Given the description of an element on the screen output the (x, y) to click on. 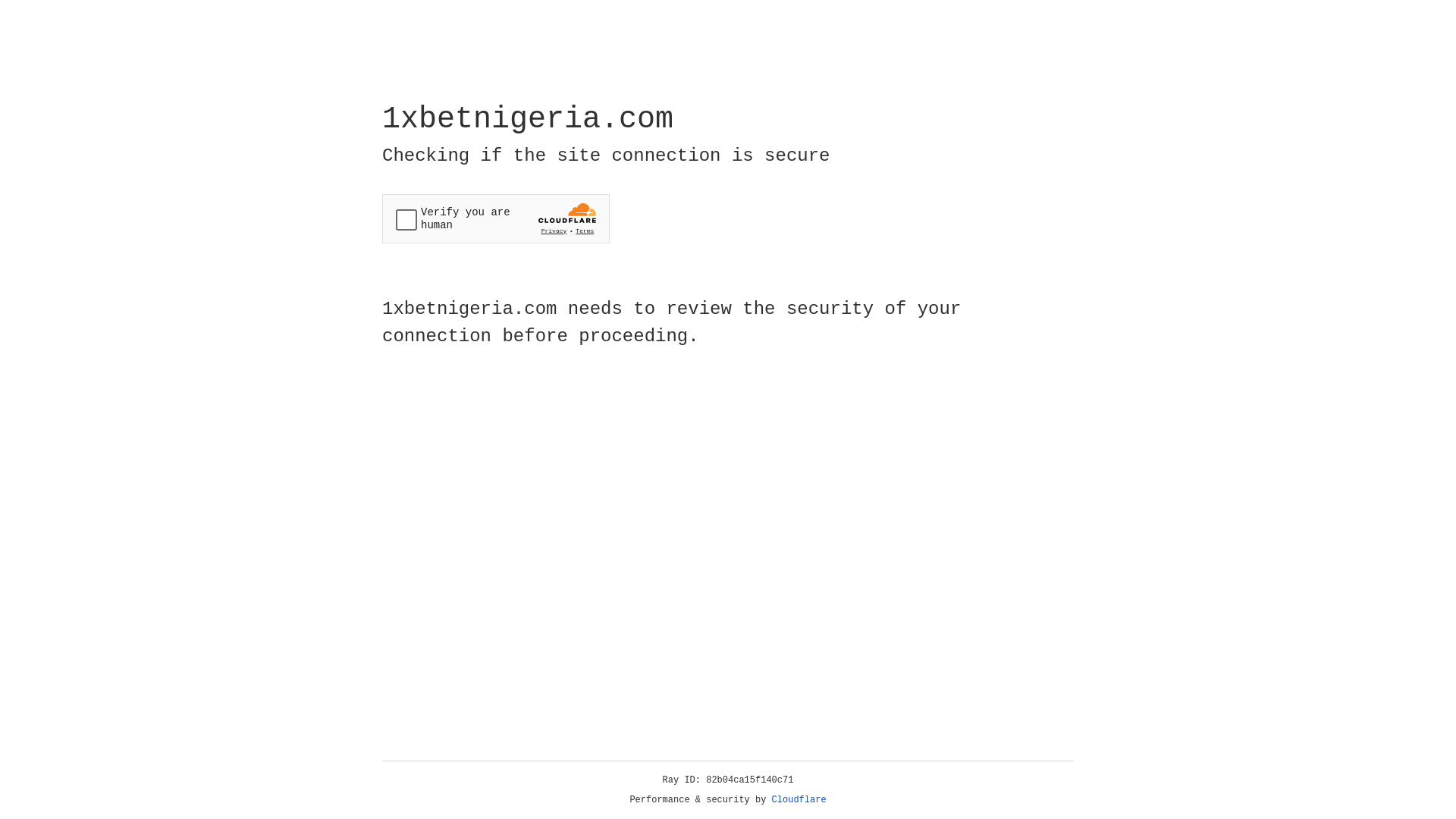
Cloudflare Element type: text (798, 799)
Widget containing a Cloudflare security challenge Element type: hover (495, 218)
